Given the description of an element on the screen output the (x, y) to click on. 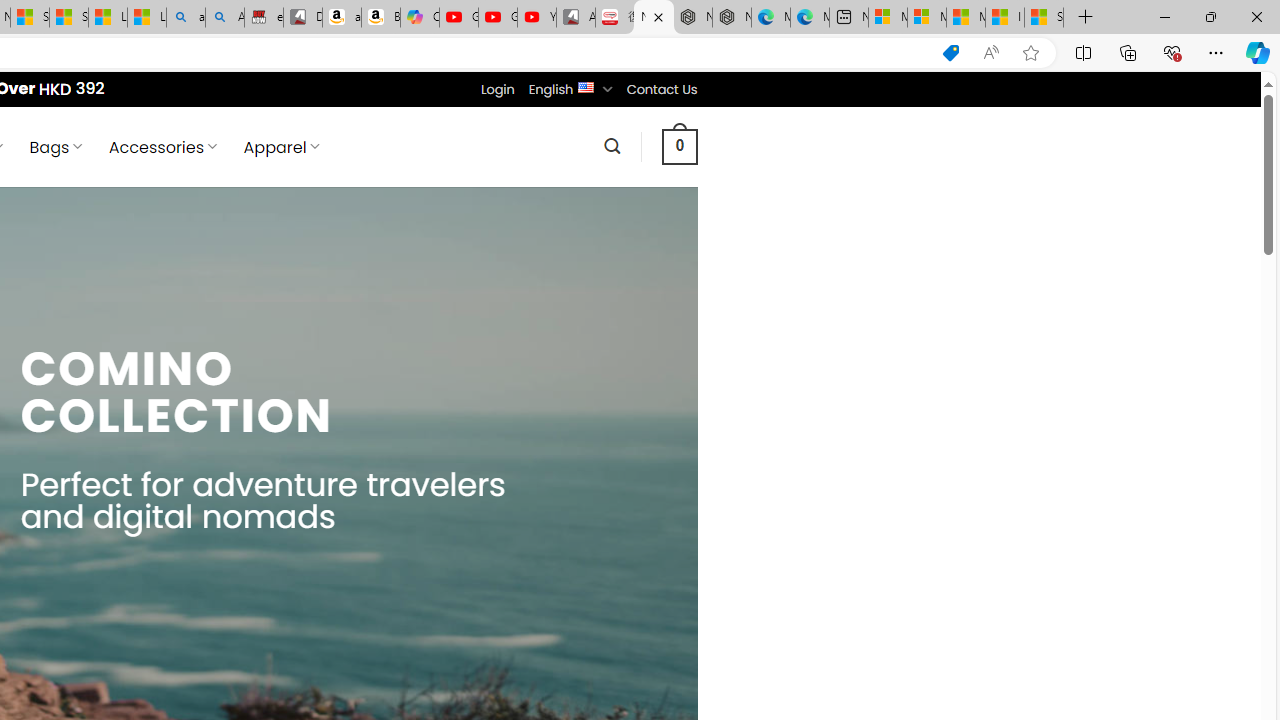
English (586, 86)
All Cubot phones (575, 17)
This site has coupons! Shopping in Microsoft Edge (950, 53)
YouTube Kids - An App Created for Kids to Explore Content (536, 17)
